Given the description of an element on the screen output the (x, y) to click on. 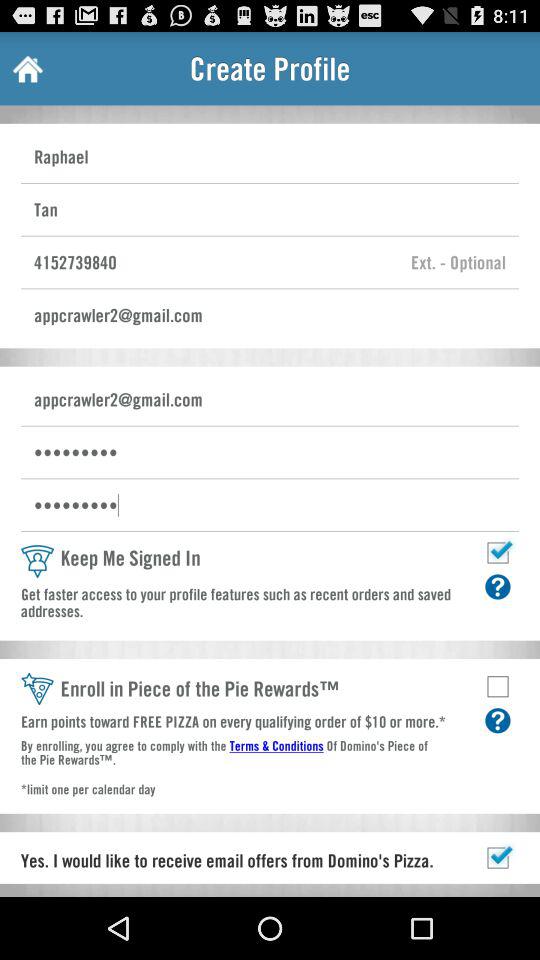
join rewards program (498, 686)
